Given the description of an element on the screen output the (x, y) to click on. 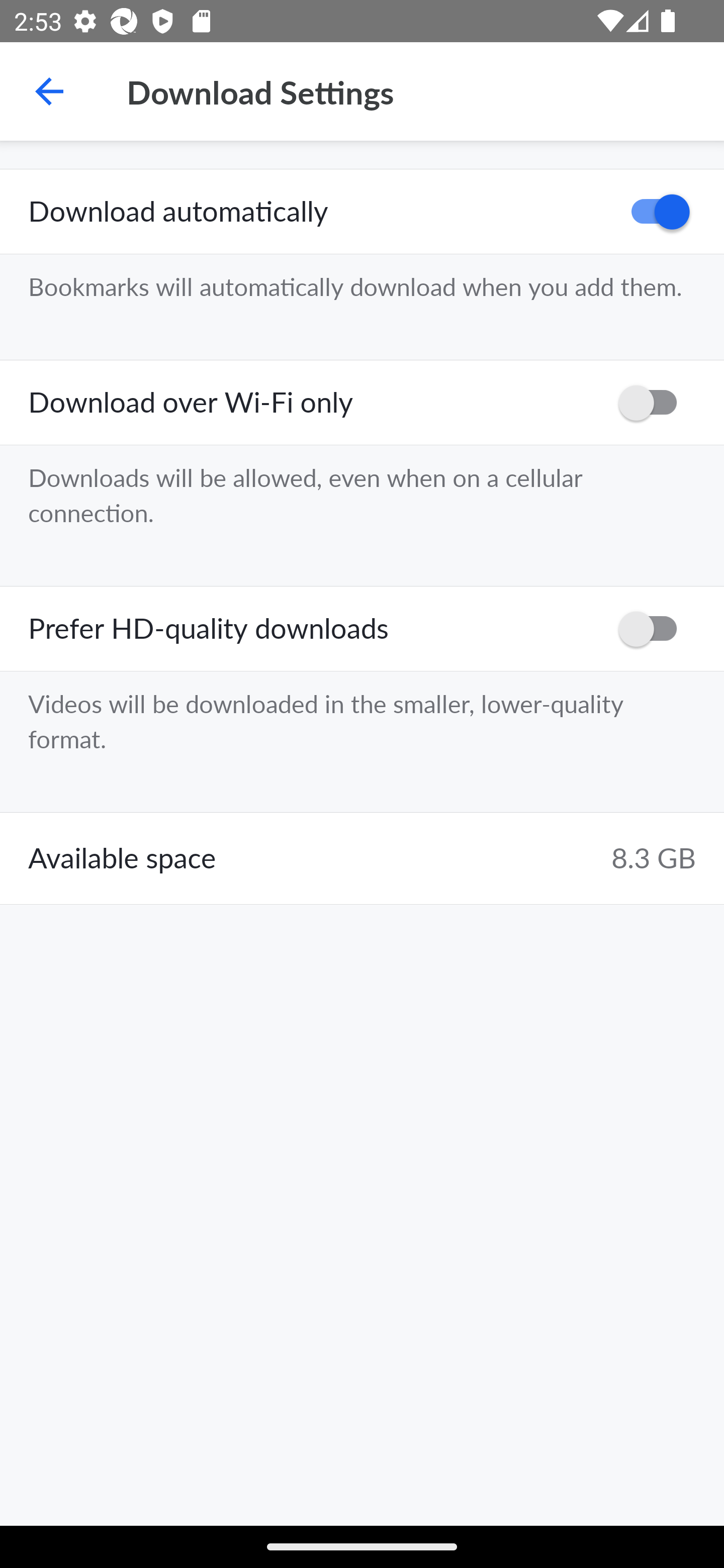
Navigate up (49, 91)
ON (653, 211)
OFF (653, 402)
OFF (653, 628)
